Given the description of an element on the screen output the (x, y) to click on. 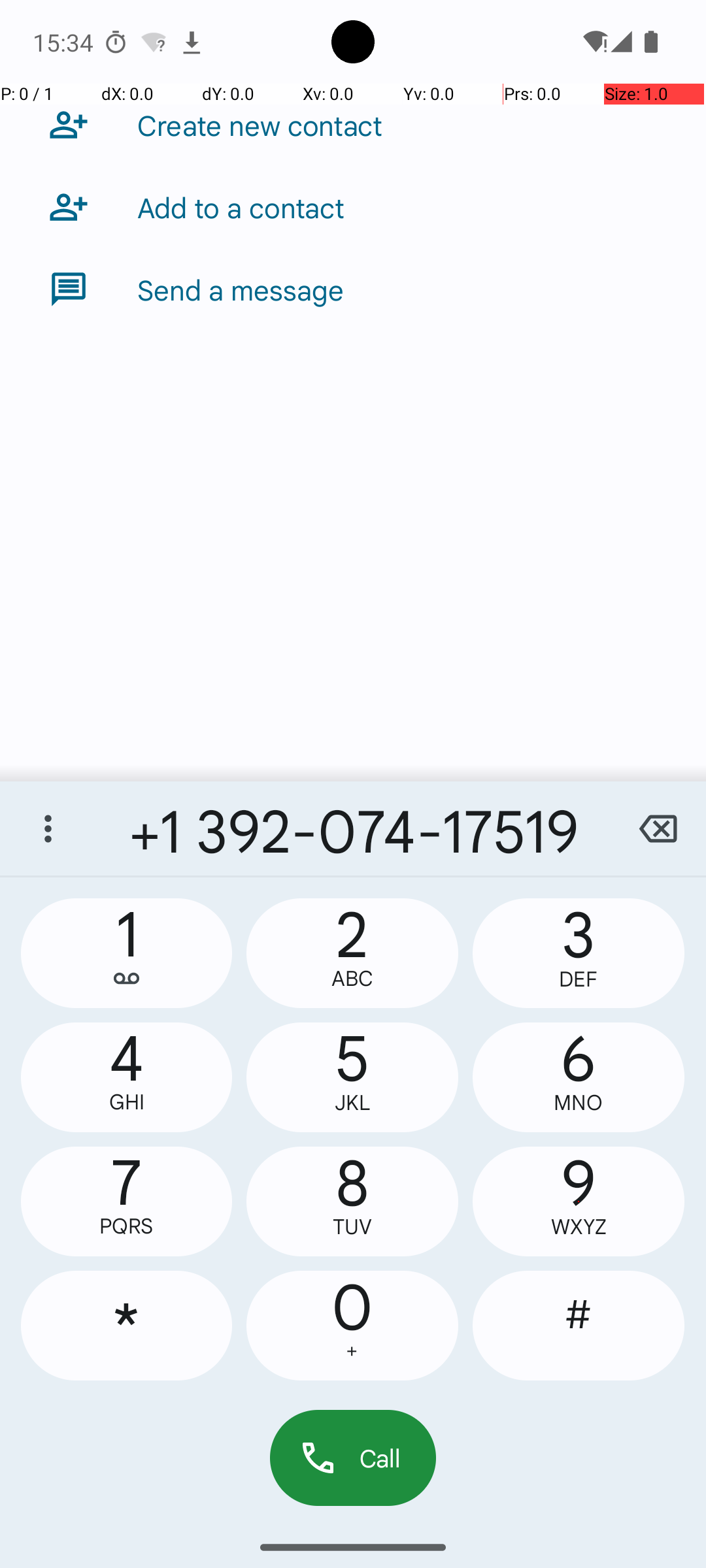
+1 392-074-17519 Element type: android.widget.EditText (352, 828)
